Given the description of an element on the screen output the (x, y) to click on. 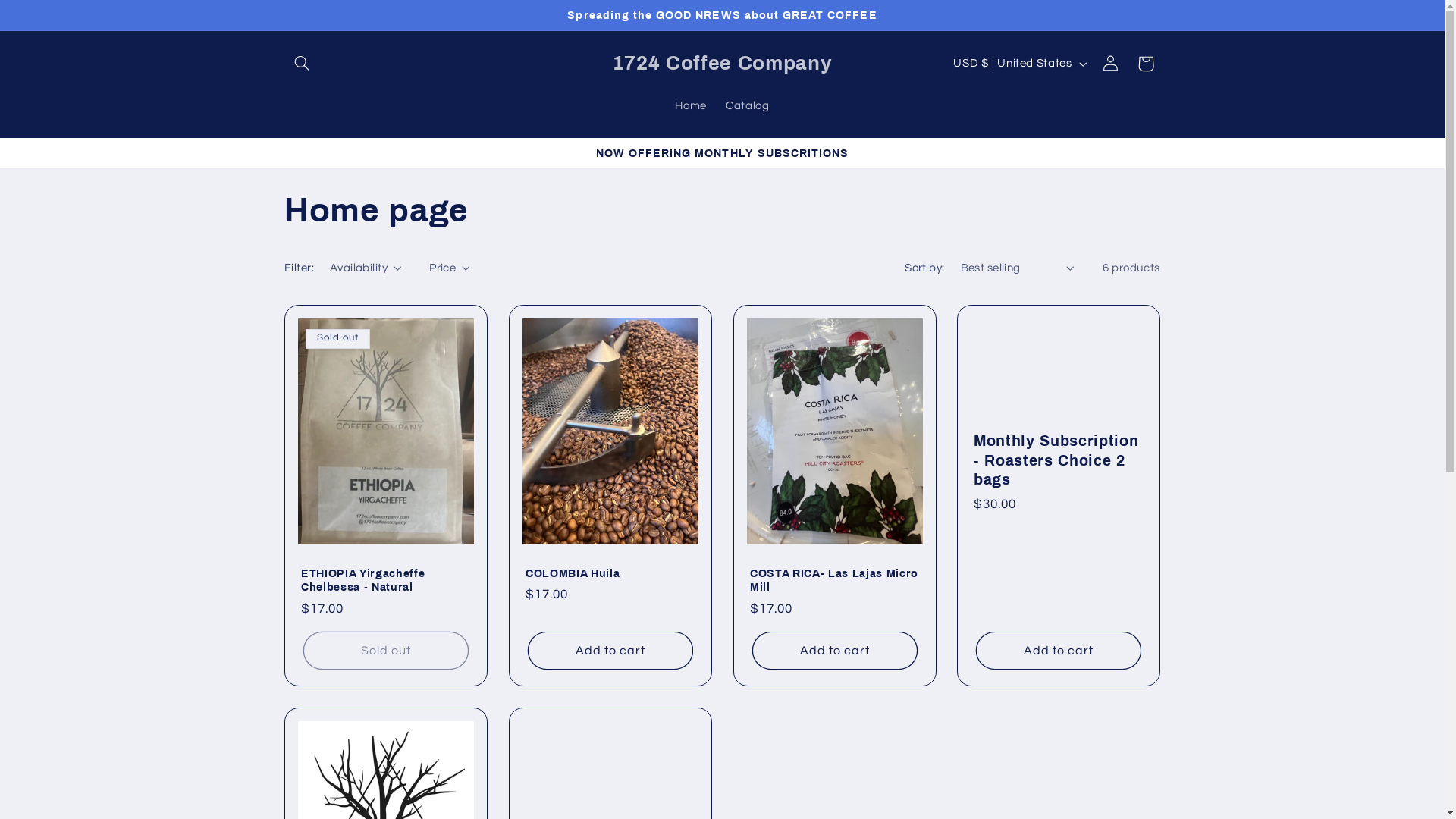
Catalog Element type: text (747, 105)
Add to cart Element type: text (834, 650)
COSTA RICA- Las Lajas Micro Mill Element type: text (834, 580)
Add to cart Element type: text (1057, 650)
Monthly Subscription - Roasters Choice 2 bags Element type: text (1058, 460)
1724 Coffee Company Element type: text (721, 63)
Log in Element type: text (1110, 63)
ETHIOPIA Yirgacheffe Chelbessa - Natural Element type: text (385, 580)
USD $ | United States Element type: text (1018, 63)
Home Element type: text (690, 105)
Add to cart Element type: text (609, 650)
Cart Element type: text (1145, 63)
COLOMBIA Huila Element type: text (610, 573)
Sold out Element type: text (385, 650)
